Given the description of an element on the screen output the (x, y) to click on. 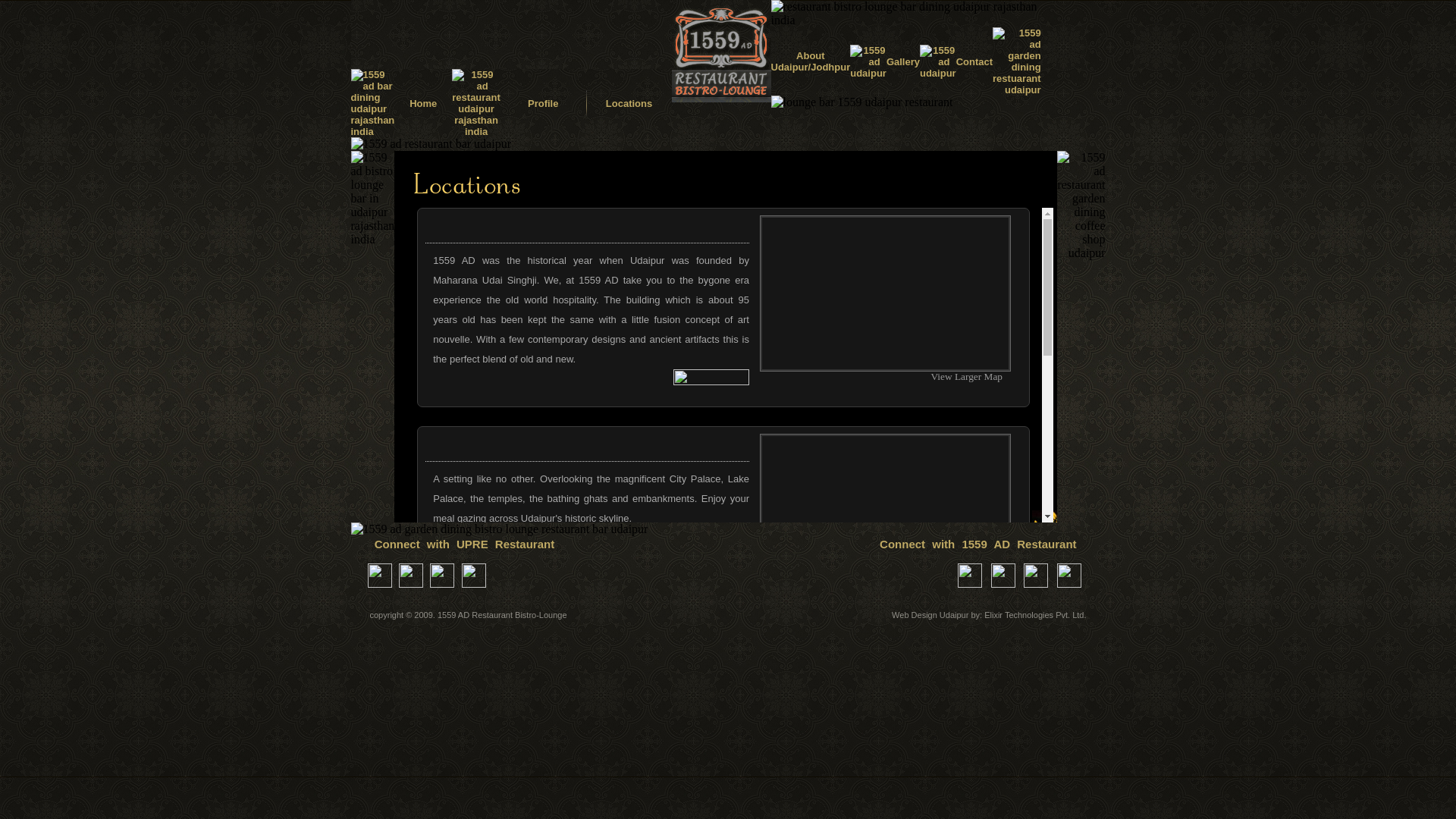
1559 ad restaurant dining udaipur rajasthan india Element type: hover (475, 103)
1559 ad udaipur Element type: hover (937, 60)
1559 ad restaurant garden dining coffee shop udaipur Element type: hover (1080, 205)
Elixir Technologies Pvt. Ltd. Element type: text (1034, 614)
1559 ad restaurant bistro lounge, udaipur, rajasthan, india Element type: hover (510, 34)
View Larger Map Element type: text (974, 594)
Web Design Udaipur Element type: text (929, 614)
Contact Element type: text (974, 61)
Gallery Element type: text (902, 61)
1559 ad bistro lounge bar in udaipur rajasthan india Element type: hover (372, 198)
About Udaipur/Jodhpur Element type: text (810, 61)
Locations Element type: text (628, 102)
lounge bar 1559 udaipur restaurant Element type: hover (861, 102)
1559 ad bar dining udaipur rajasthan india Element type: hover (372, 103)
View Larger Map Element type: text (974, 376)
1559 ad udaipur Element type: hover (868, 60)
Home Element type: text (422, 102)
1559 ad restaurant bar udaipur rajasthan india Element type: hover (430, 143)
Profile Element type: text (542, 102)
1559 ad garden dining bistro lounge restaurant bar udaipur Element type: hover (498, 529)
